Given the description of an element on the screen output the (x, y) to click on. 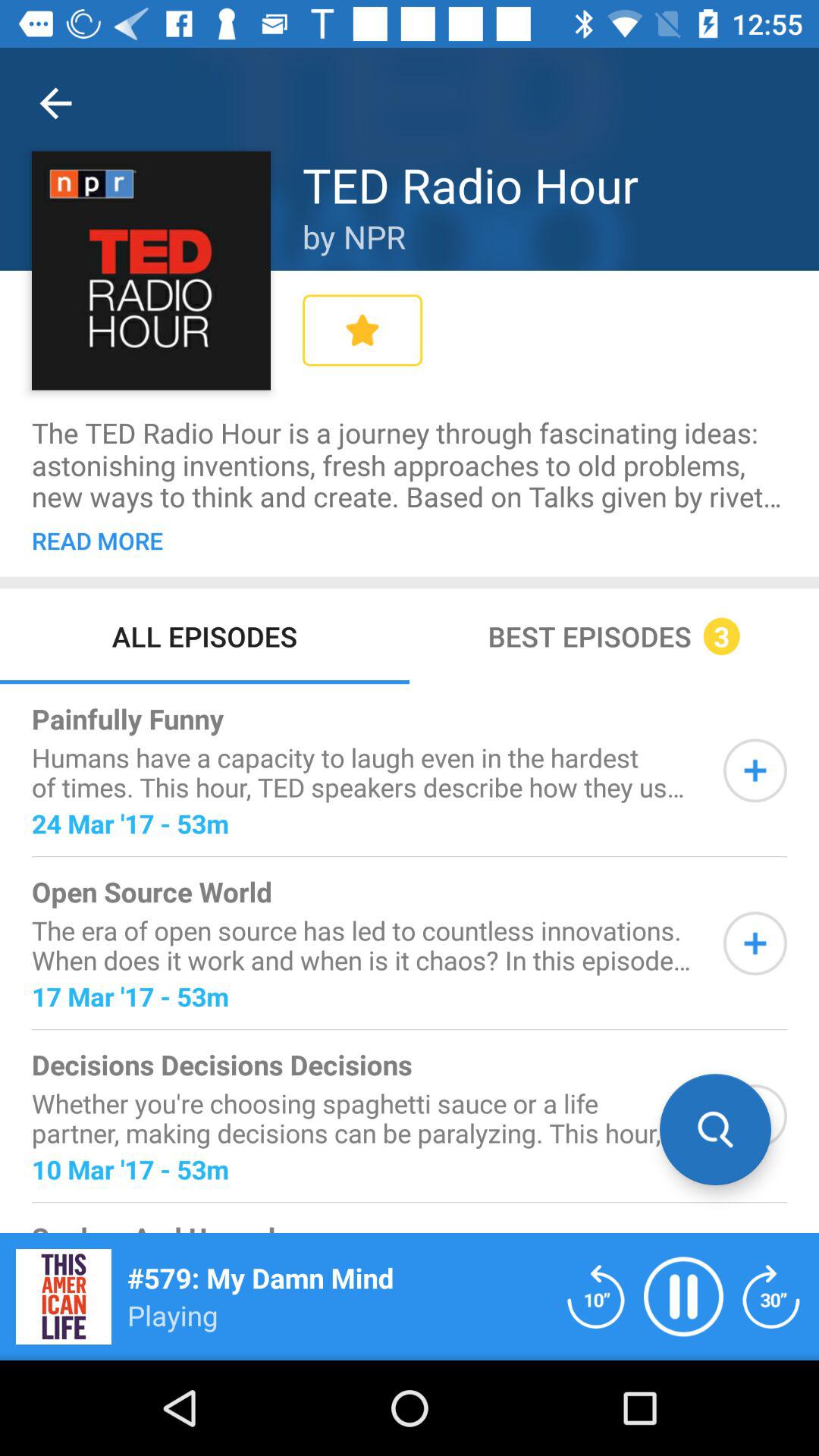
reload (595, 1296)
